Given the description of an element on the screen output the (x, y) to click on. 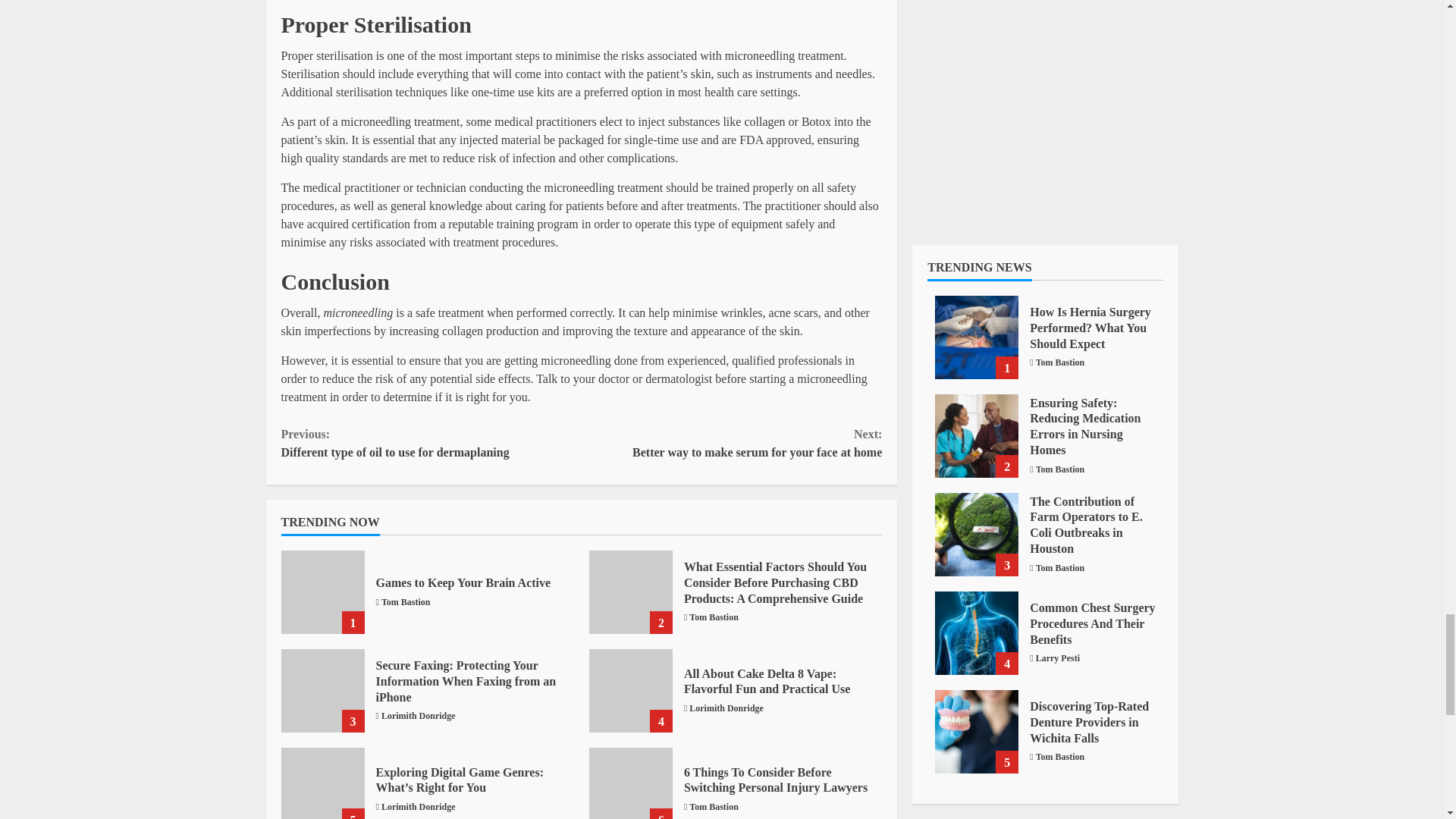
Games to Keep Your Brain Active (322, 591)
Tom Bastion (405, 602)
Games to Keep Your Brain Active (463, 582)
Tom Bastion (430, 443)
